Given the description of an element on the screen output the (x, y) to click on. 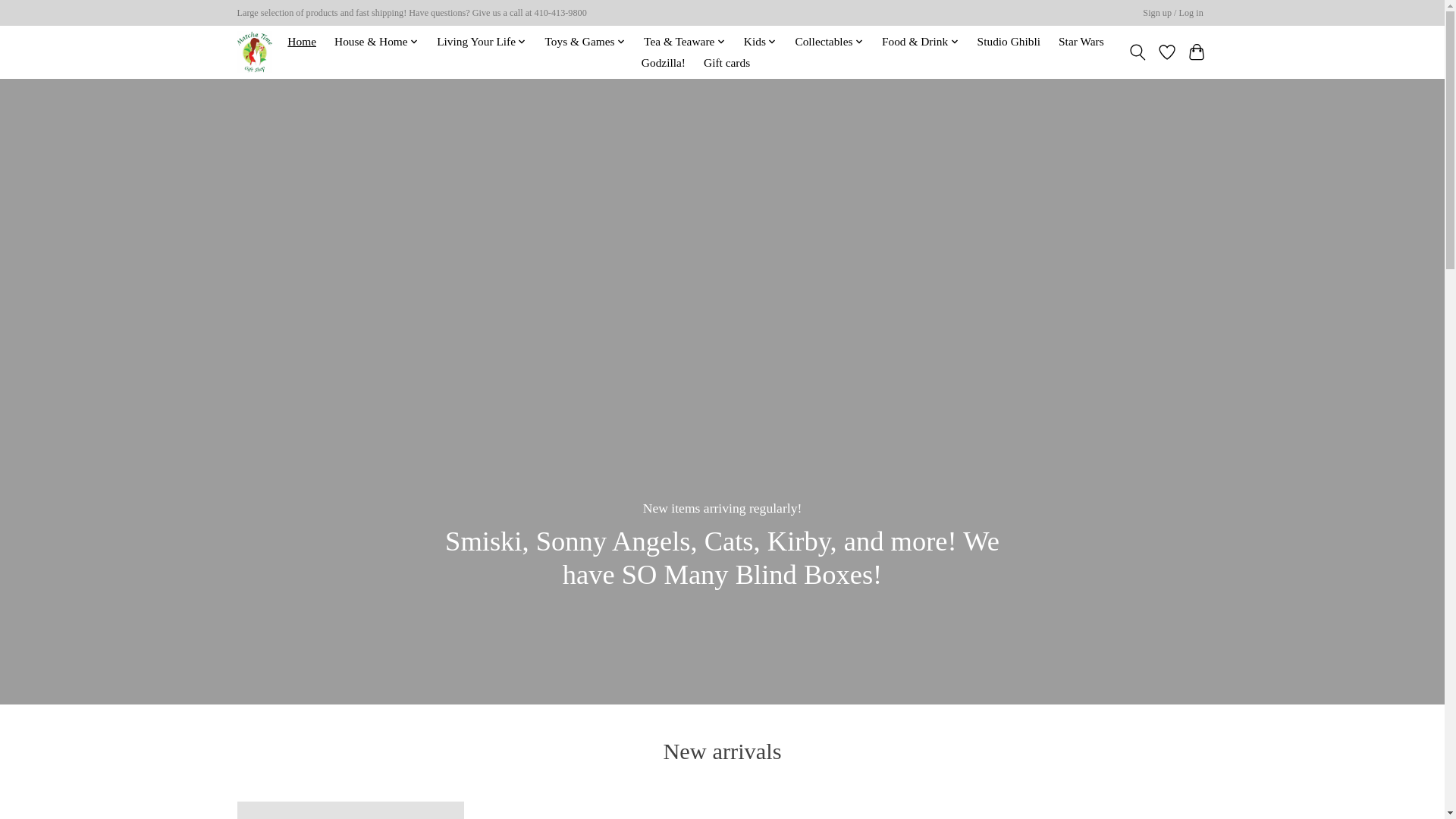
Home (301, 41)
Sun Star Eraser - Cat - 738567 (845, 810)
My account (1173, 13)
Dreams Sonny Angel Sticker Pack - Series 1 (1093, 810)
Qualia Blind Box - Qualia - Succulent Friends QL-009 (597, 810)
